Given the description of an element on the screen output the (x, y) to click on. 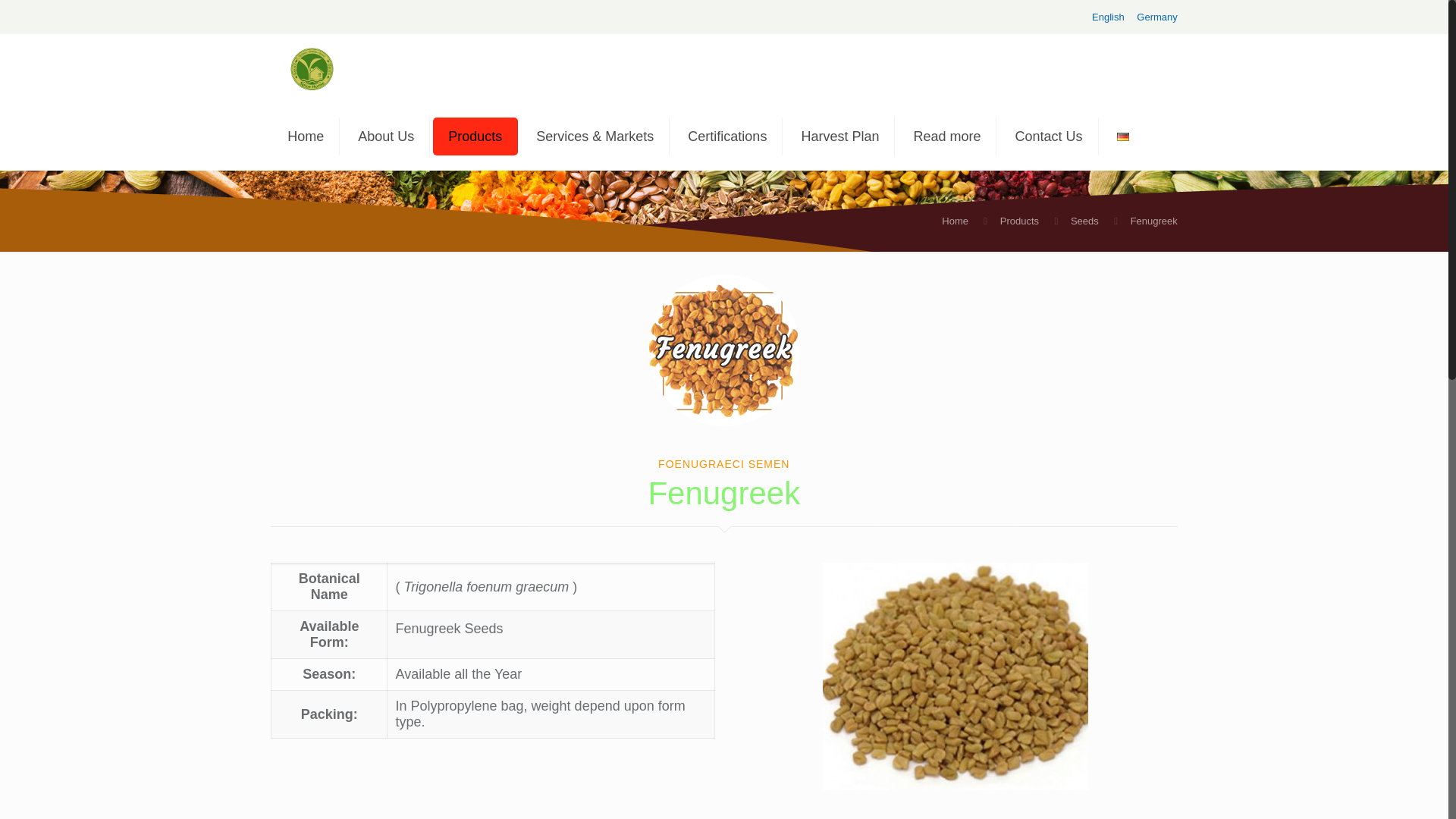
Germany (1156, 16)
English (1108, 16)
Products (475, 136)
About Us (385, 136)
Home (305, 136)
